Given the description of an element on the screen output the (x, y) to click on. 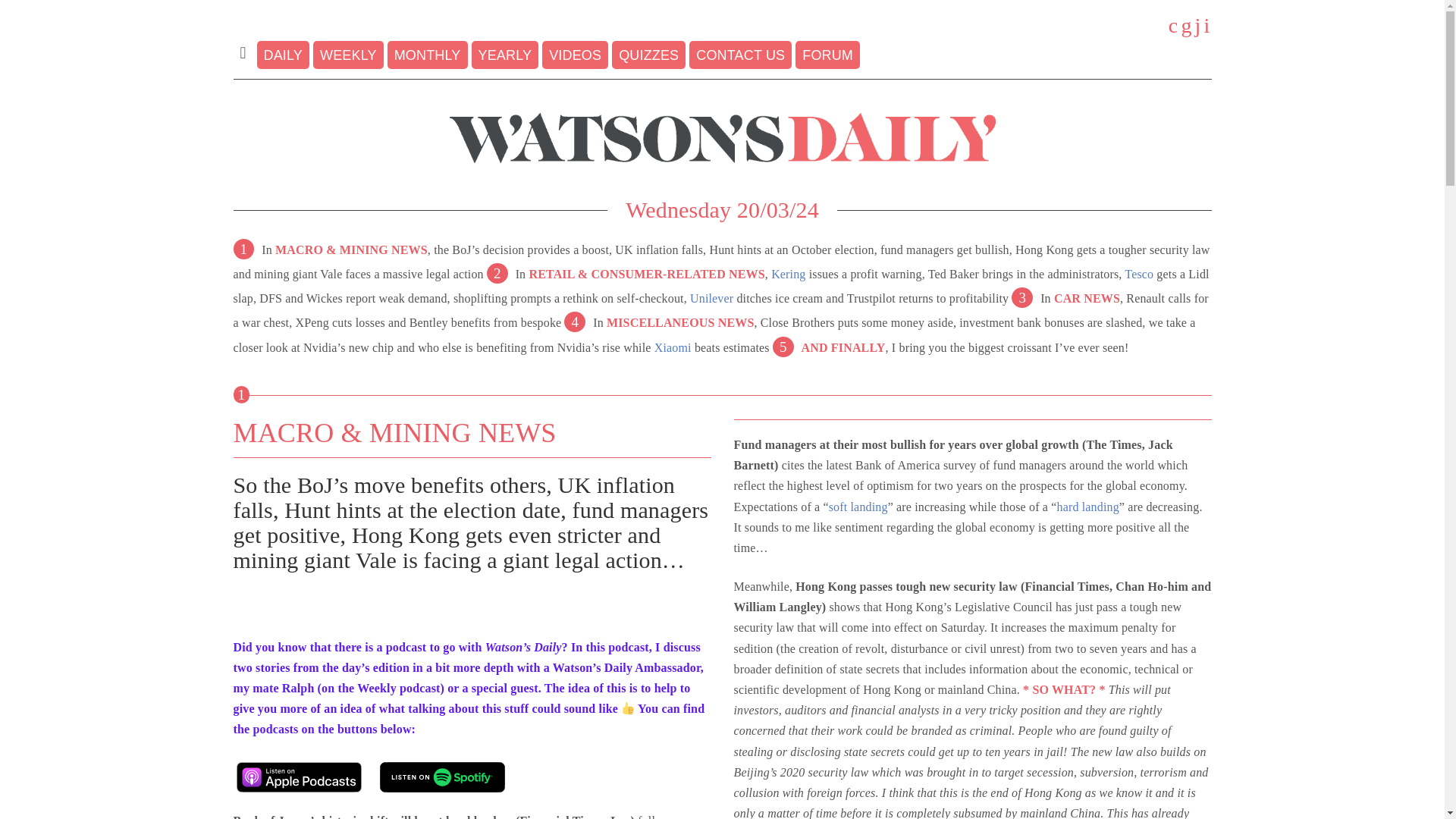
Tesco (1138, 273)
Kering (788, 273)
YEARLY (504, 54)
DAILY (283, 54)
CAR NEWS (1086, 297)
WEEKLY (348, 54)
hard landing (1087, 506)
AND FINALLY (843, 347)
soft landing (858, 506)
MONTHLY (427, 54)
FORUM (827, 54)
Xiaomi (672, 347)
QUIZZES (648, 54)
MISCELLANEOUS NEWS (680, 322)
VIDEOS (574, 54)
